Given the description of an element on the screen output the (x, y) to click on. 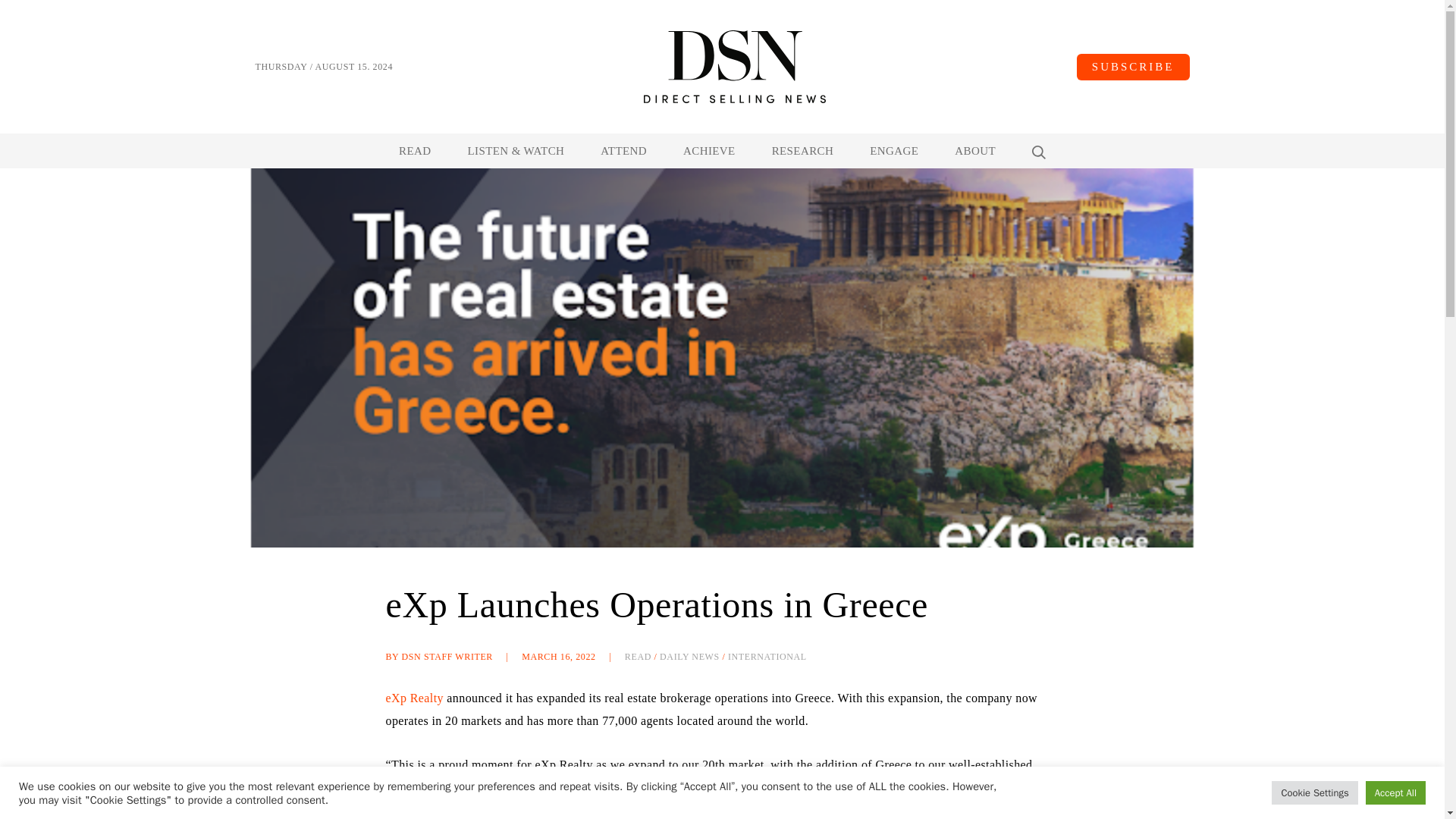
ATTEND (622, 150)
ACHIEVE (708, 150)
READ (414, 150)
SUBSCRIBE (1133, 66)
RESEARCH (802, 150)
